Given the description of an element on the screen output the (x, y) to click on. 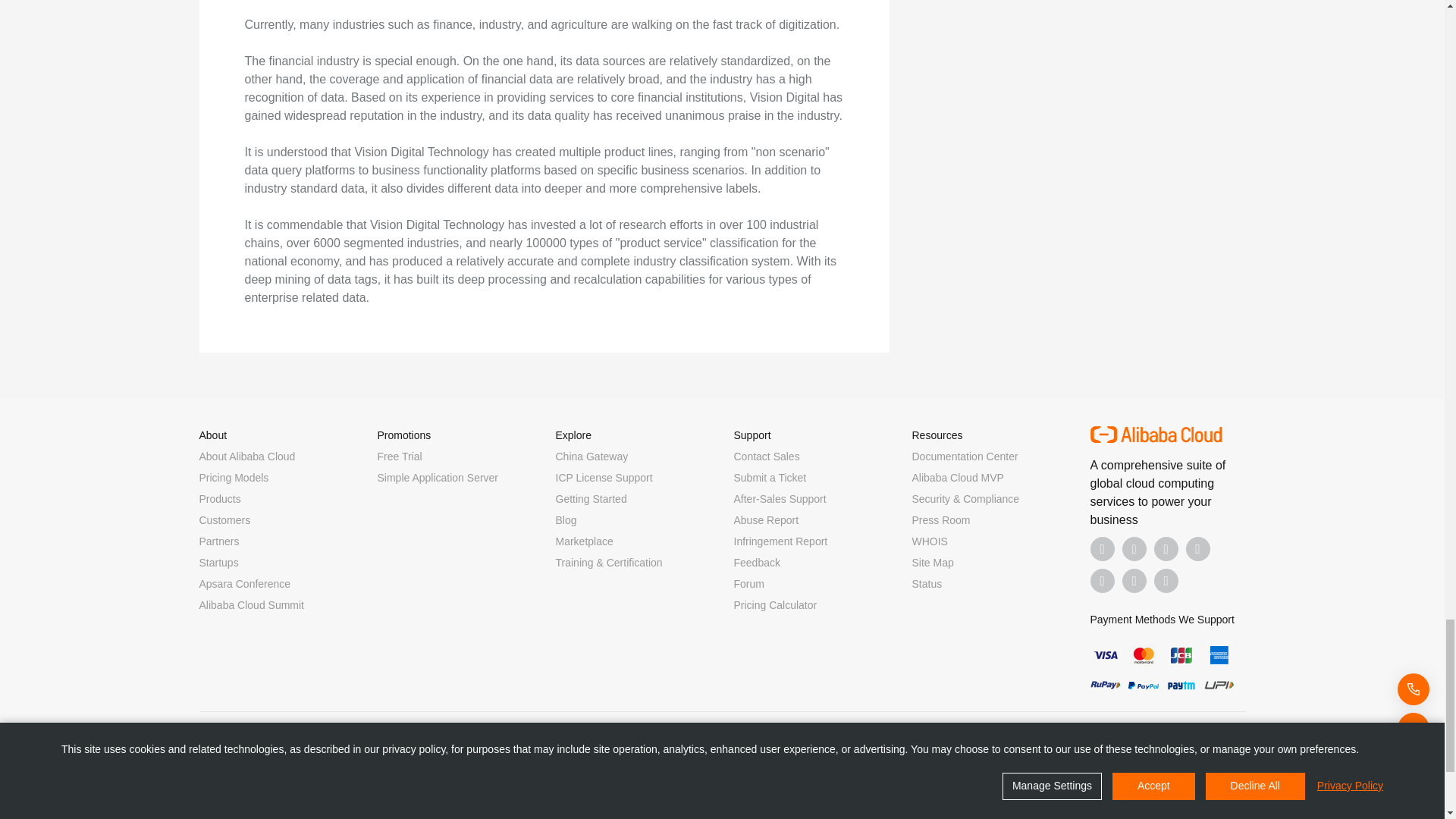
TikTok (1102, 580)
Facebook (1102, 549)
Linkedin (1134, 549)
Call Us Now (1165, 580)
YouTube (1197, 549)
Twitter (1165, 549)
